Given the description of an element on the screen output the (x, y) to click on. 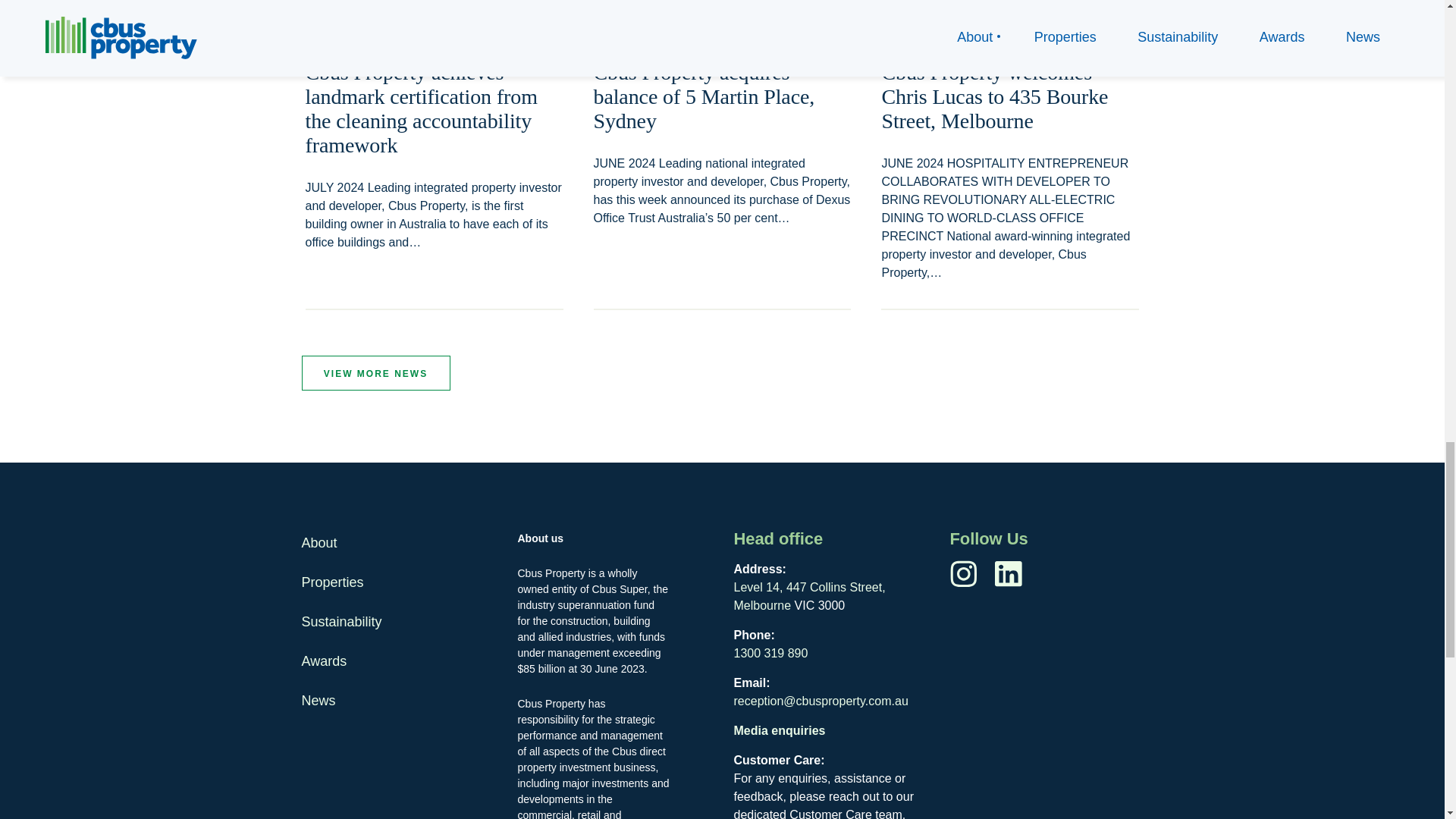
News (318, 701)
1300 319 890 (770, 653)
Properties (332, 582)
About (319, 543)
Sustainability (341, 621)
Media enquiries (779, 730)
VIEW MORE NEWS (375, 372)
Melbourne (762, 604)
Level 14, 447 Collins Street, (809, 586)
Awards (324, 661)
